Given the description of an element on the screen output the (x, y) to click on. 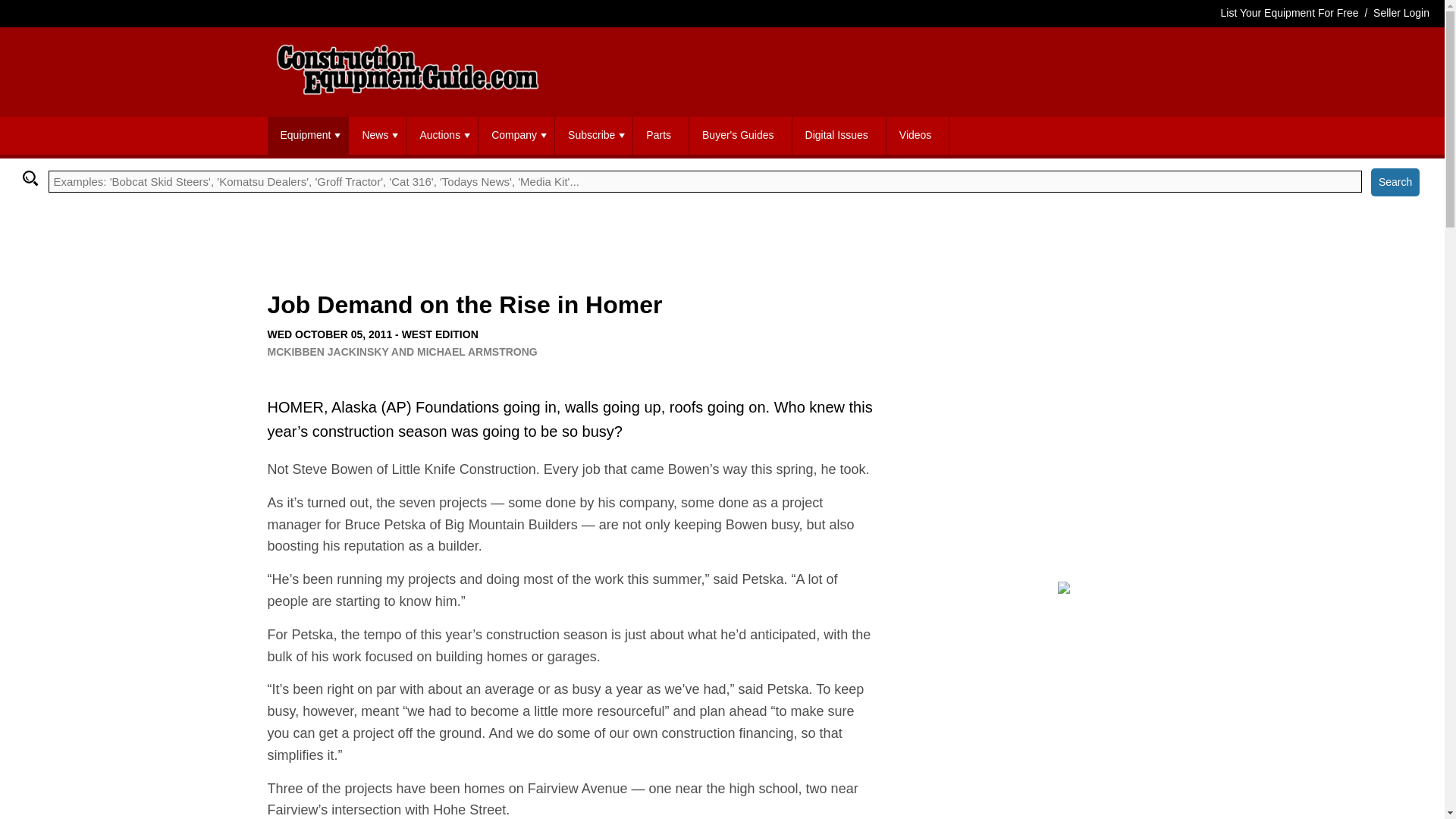
List Your Equipment For Free (1289, 12)
Seller Login (1401, 12)
